Given the description of an element on the screen output the (x, y) to click on. 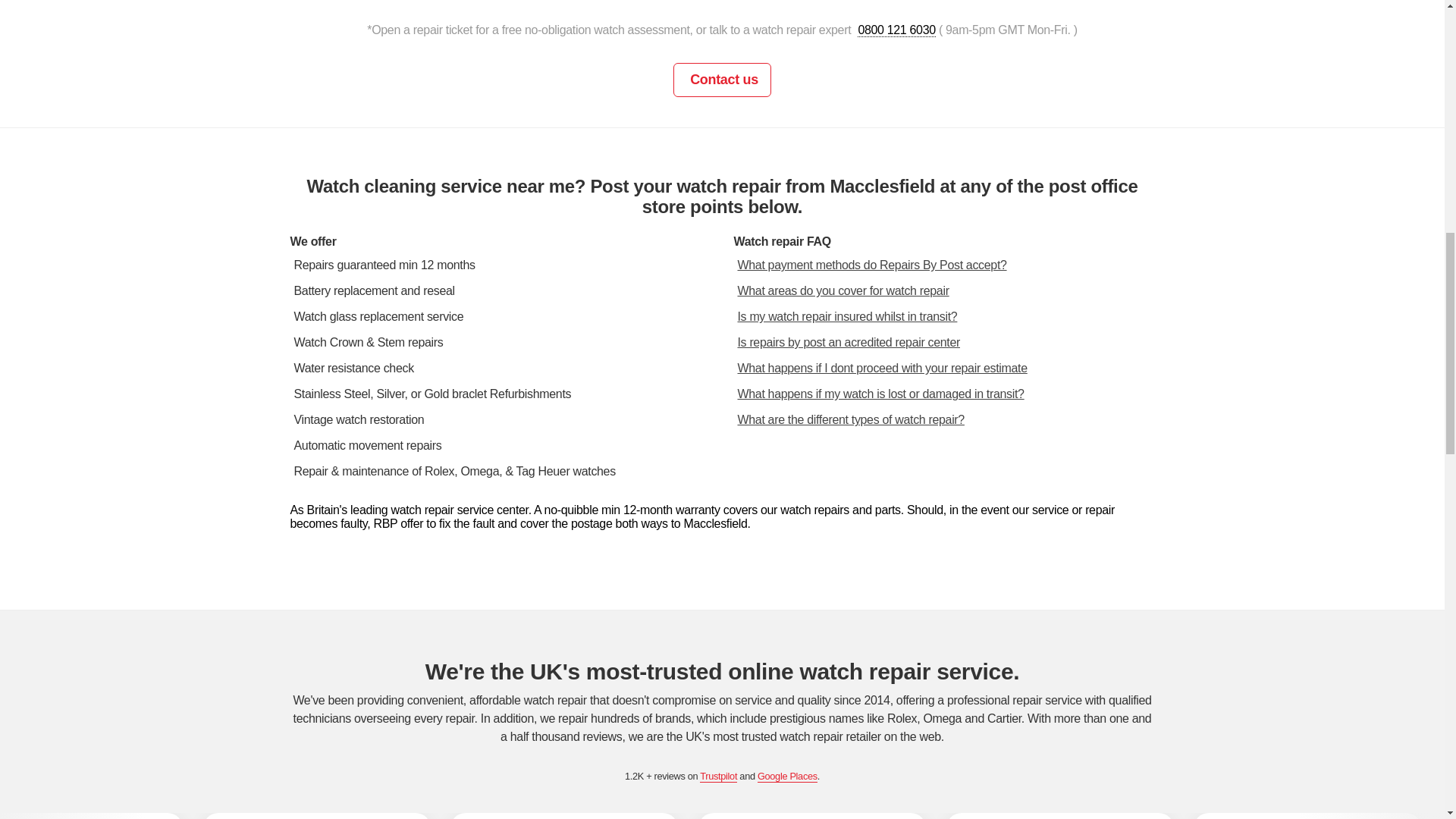
Is my watch repair insured whilst in transit? (842, 316)
0800 121 6030 (895, 29)
What areas do you cover for watch repair (839, 290)
What happens if my watch is lost or damaged in transit? (876, 393)
Trustpilot (718, 776)
What happens if I dont proceed with your repair estimate (877, 367)
What are the different types of watch repair? (846, 419)
Google Places (786, 776)
What payment methods do Repairs By Post accept? (867, 264)
Contact us (721, 79)
